Given the description of an element on the screen output the (x, y) to click on. 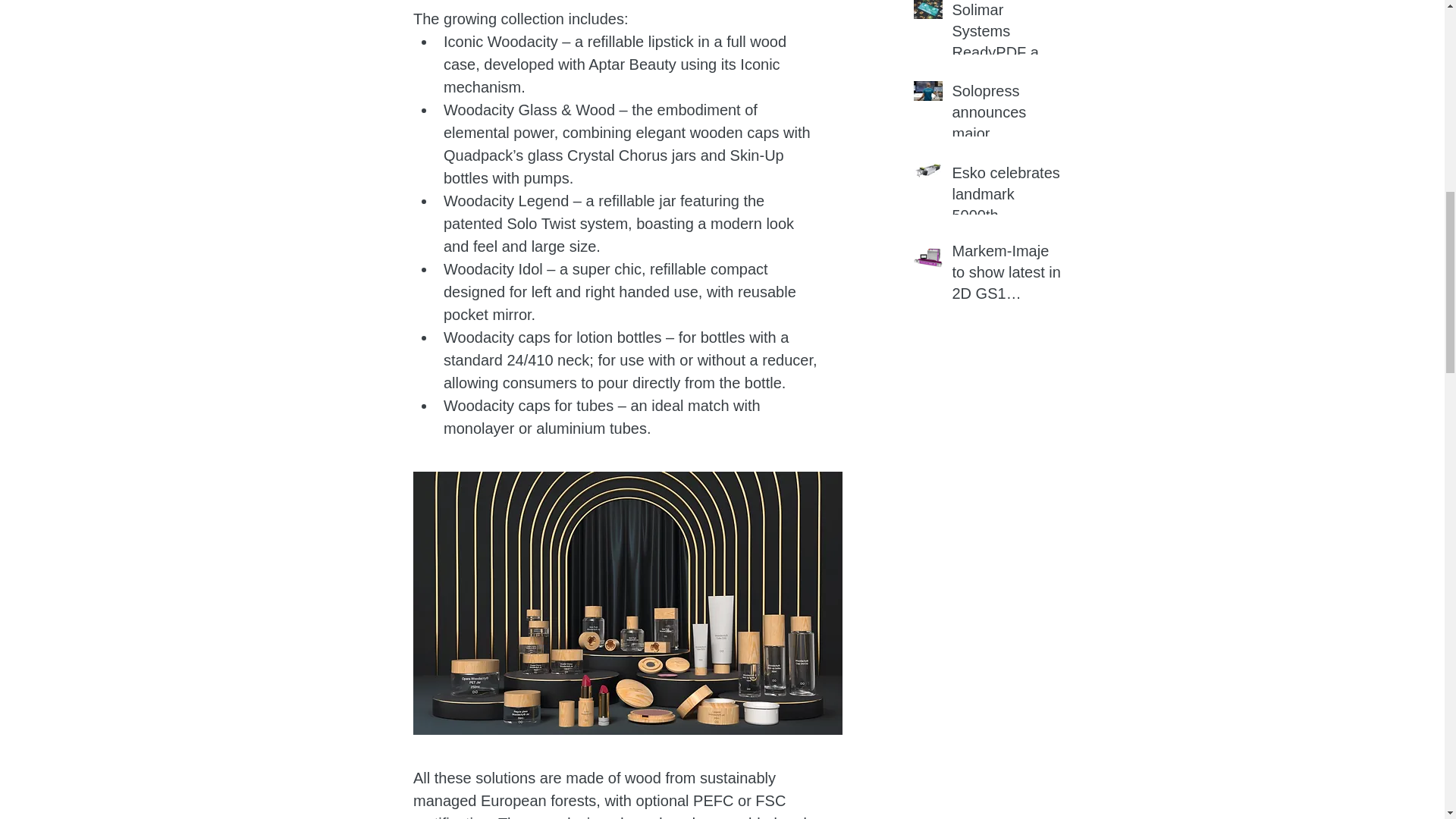
Esko celebrates landmark 5000th worldwide flexo installation (1006, 196)
